Given the description of an element on the screen output the (x, y) to click on. 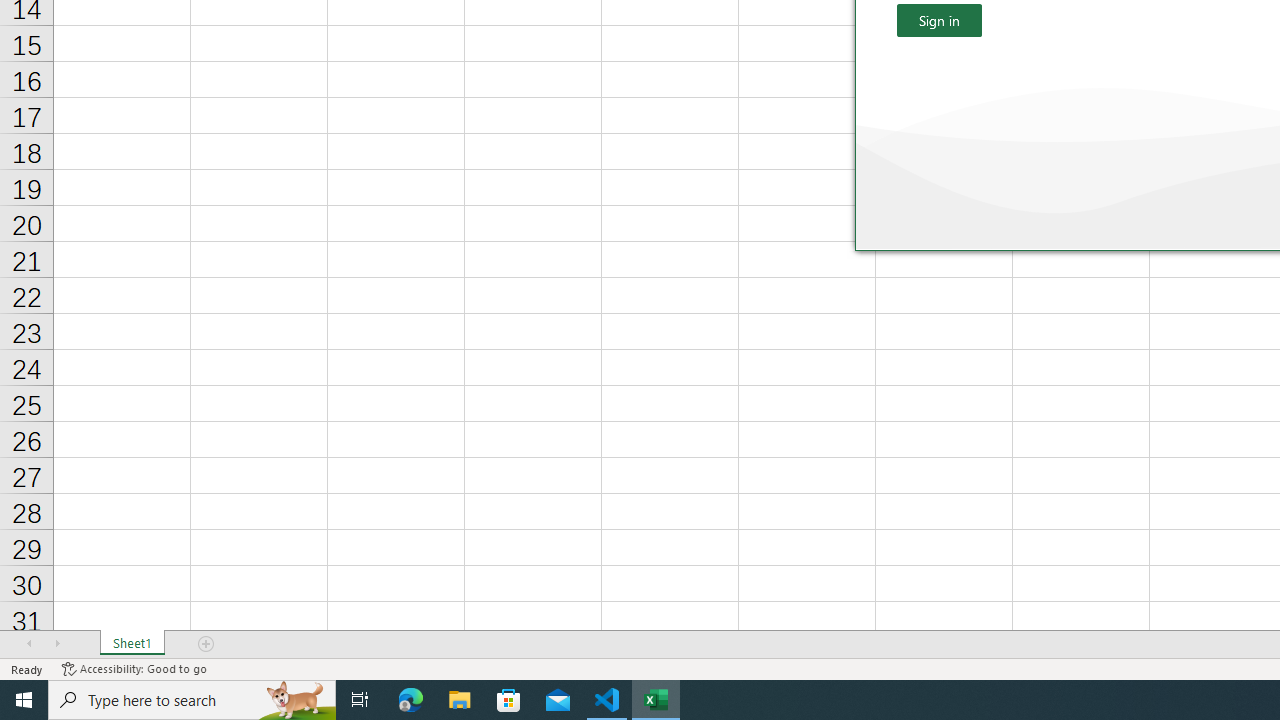
Search highlights icon opens search home window (295, 699)
Sign in (939, 20)
Excel - 1 running window (656, 699)
Scroll Left (29, 644)
Scroll Right (57, 644)
Accessibility Checker Accessibility: Good to go (134, 668)
Microsoft Edge (411, 699)
Visual Studio Code - 1 running window (607, 699)
Start (24, 699)
Type here to search (191, 699)
Sheet1 (132, 644)
Microsoft Store (509, 699)
Add Sheet (207, 644)
File Explorer (460, 699)
